Given the description of an element on the screen output the (x, y) to click on. 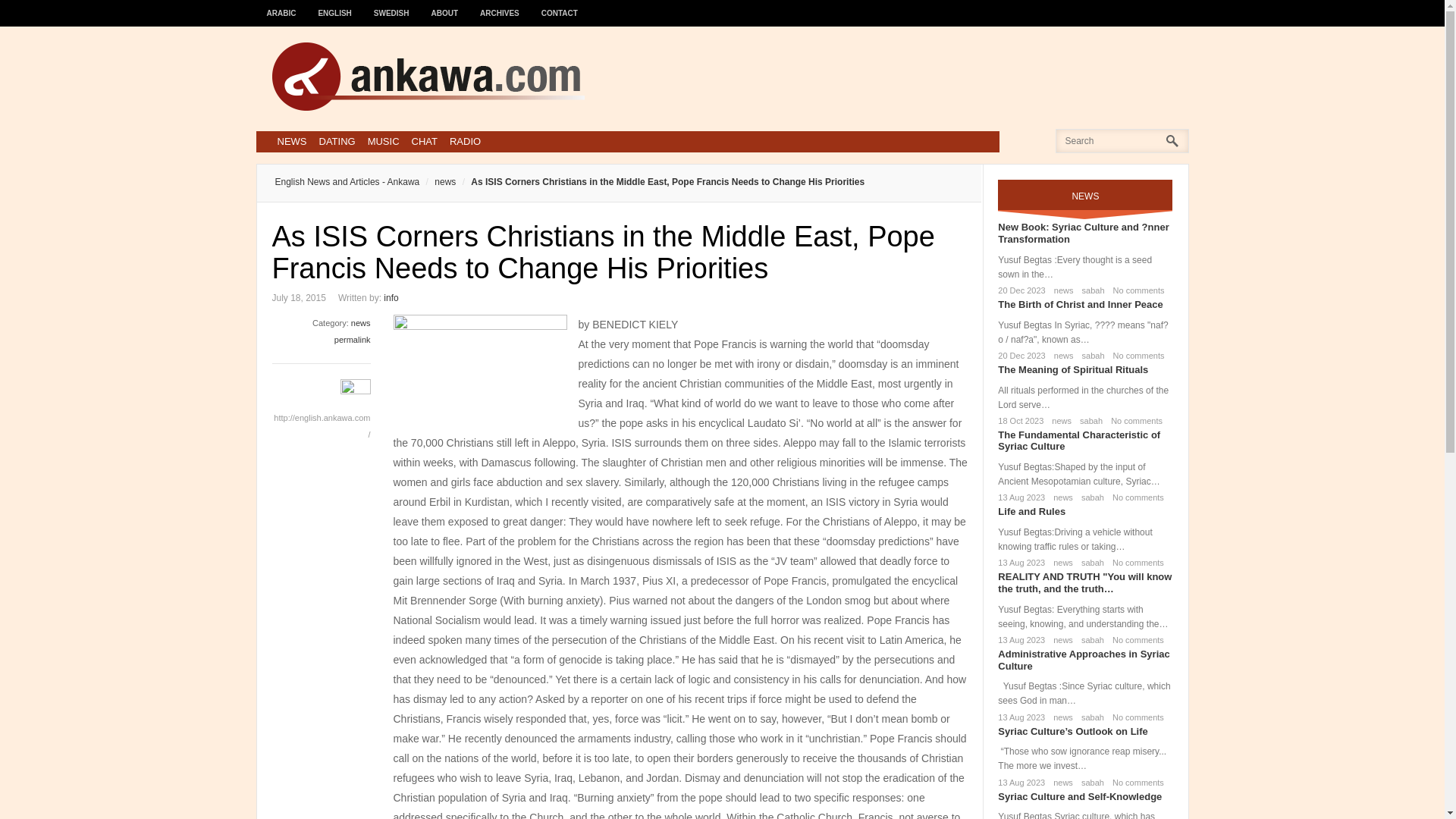
Life and Rules (1031, 511)
The Birth of Christ and Inner Peace (1079, 304)
SWEDISH (391, 5)
Life and Rules (1031, 511)
CONTACT (560, 5)
ABOUT (445, 5)
View all posts by info (390, 297)
news (1059, 562)
No comments (1135, 355)
ENGLISH (334, 5)
news (1058, 420)
No comments (1133, 420)
The Meaning of Spiritual Rituals (1072, 369)
Administrative Approaches in Syriac Culture (1083, 659)
news (437, 181)
